Given the description of an element on the screen output the (x, y) to click on. 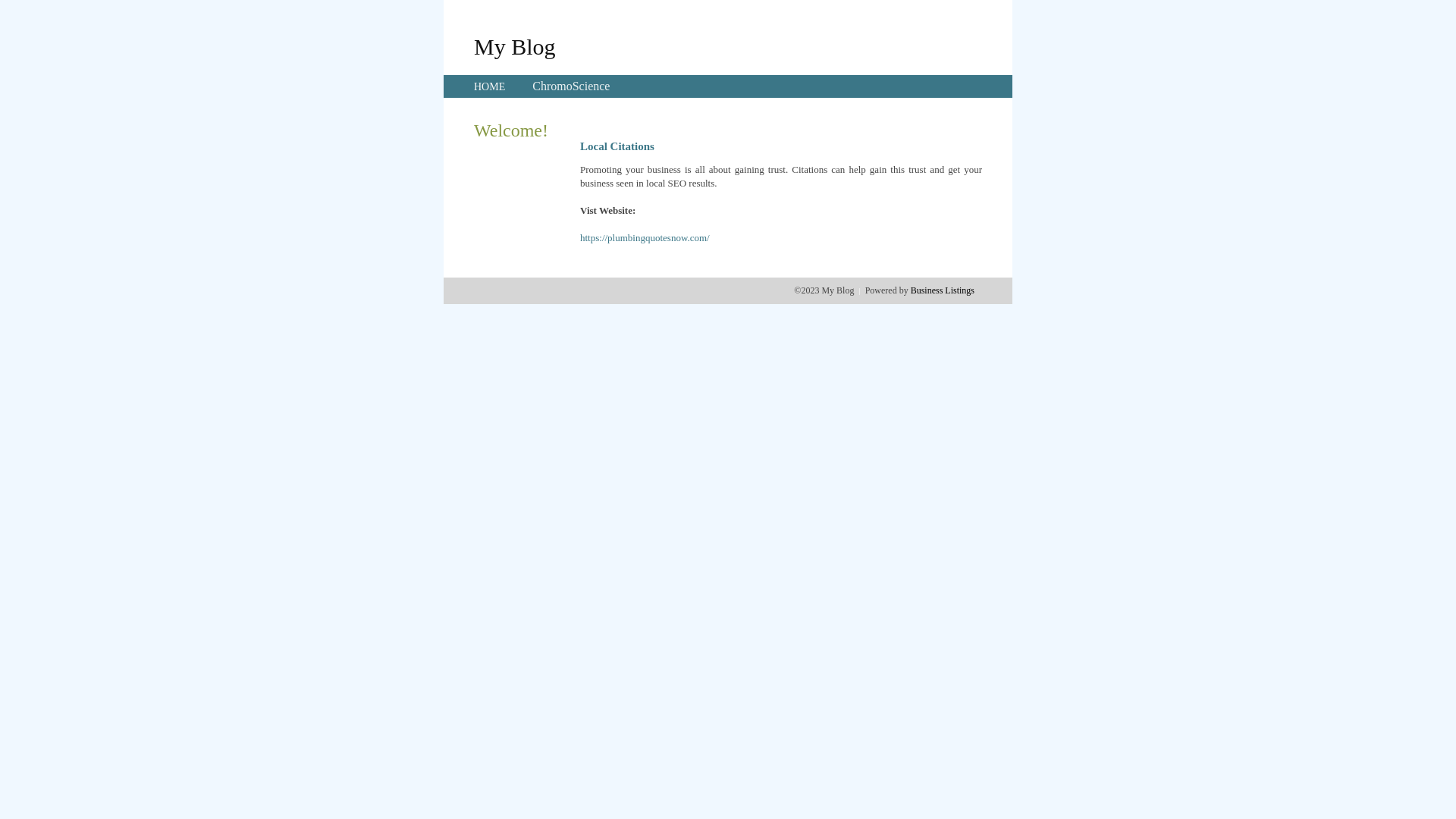
https://plumbingquotesnow.com/ Element type: text (644, 237)
Business Listings Element type: text (942, 290)
HOME Element type: text (489, 86)
ChromoScience Element type: text (570, 85)
My Blog Element type: text (514, 46)
